Given the description of an element on the screen output the (x, y) to click on. 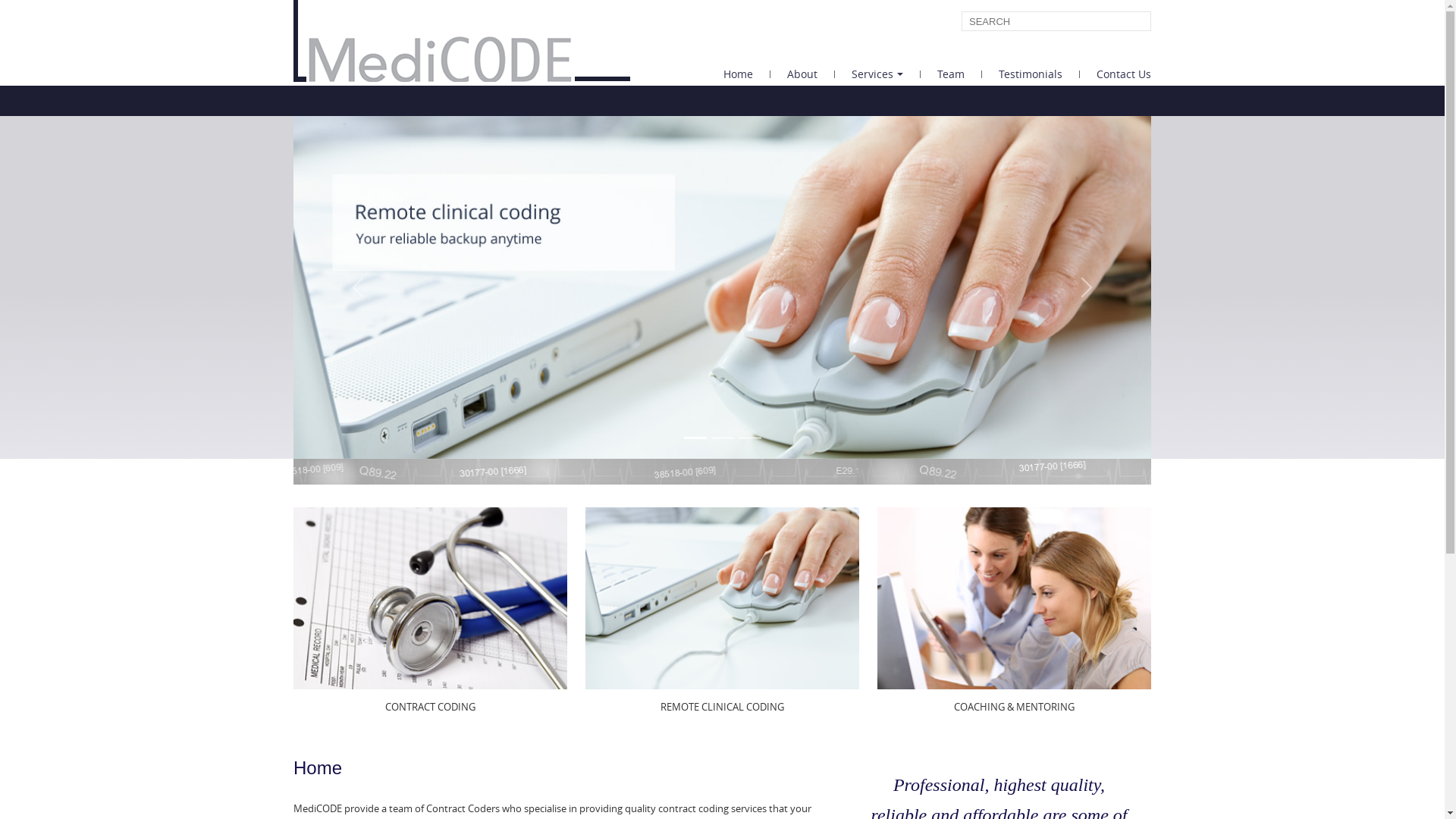
REMOTE CLINICAL CODING Element type: text (722, 706)
Contact Us Element type: text (1115, 74)
Home Element type: text (738, 74)
COACHING & MENTORING Element type: text (1013, 706)
Previous Element type: text (357, 287)
Team Element type: text (951, 74)
About Element type: text (802, 74)
CONTRACT CODING Element type: text (430, 706)
Next Element type: text (1086, 287)
Testimonials Element type: text (1030, 74)
Services Element type: text (877, 74)
